Given the description of an element on the screen output the (x, y) to click on. 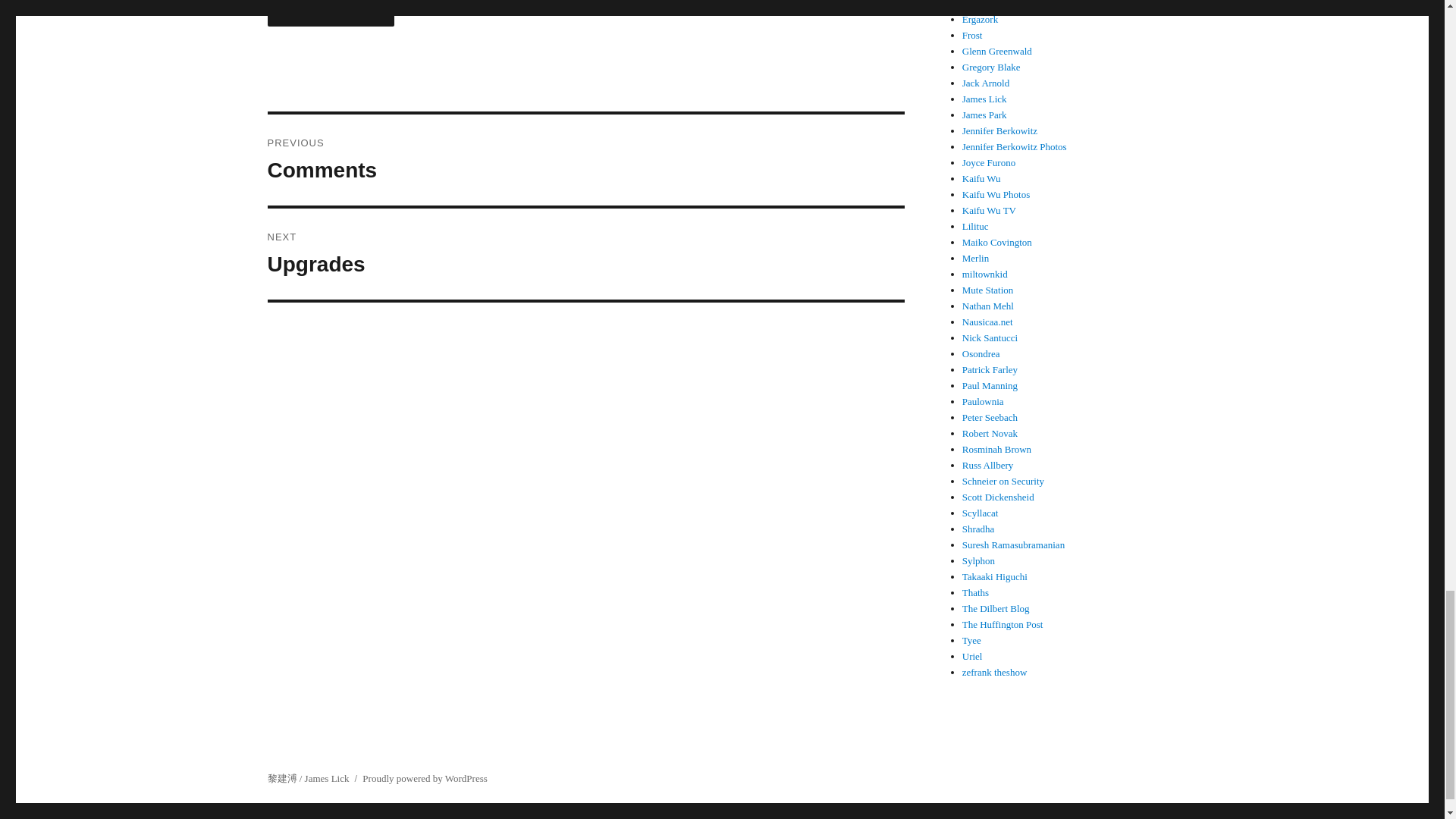
Post Comment (585, 253)
Post Comment (330, 13)
